Given the description of an element on the screen output the (x, y) to click on. 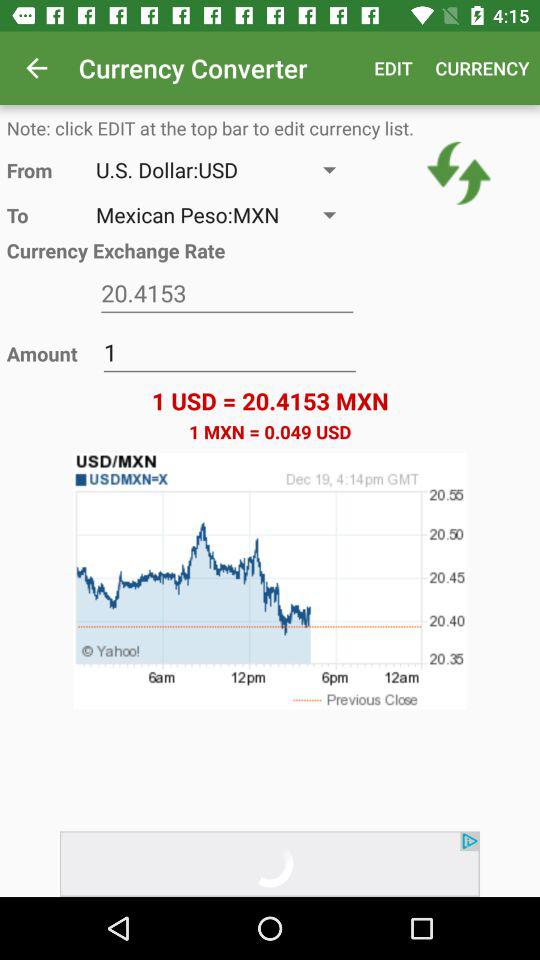
advertisement (270, 864)
